Given the description of an element on the screen output the (x, y) to click on. 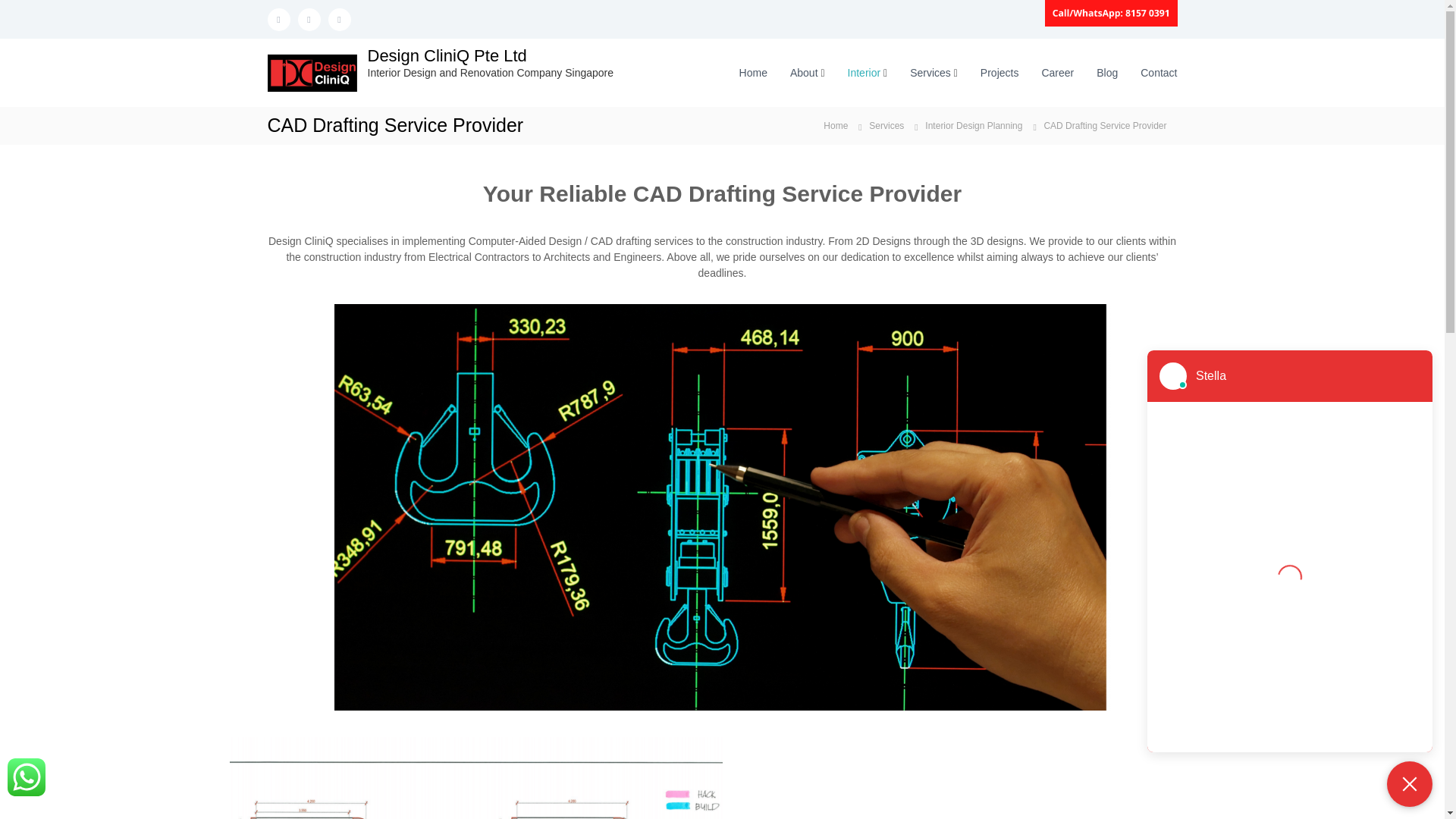
Services (930, 72)
Services (886, 124)
Interior (863, 72)
Home (835, 124)
Facebook (277, 18)
About (804, 72)
Design CliniQ Pte Ltd (445, 55)
Pinterest (338, 18)
Interior Design Planning (973, 124)
Instagram (308, 18)
Home (753, 72)
